Given the description of an element on the screen output the (x, y) to click on. 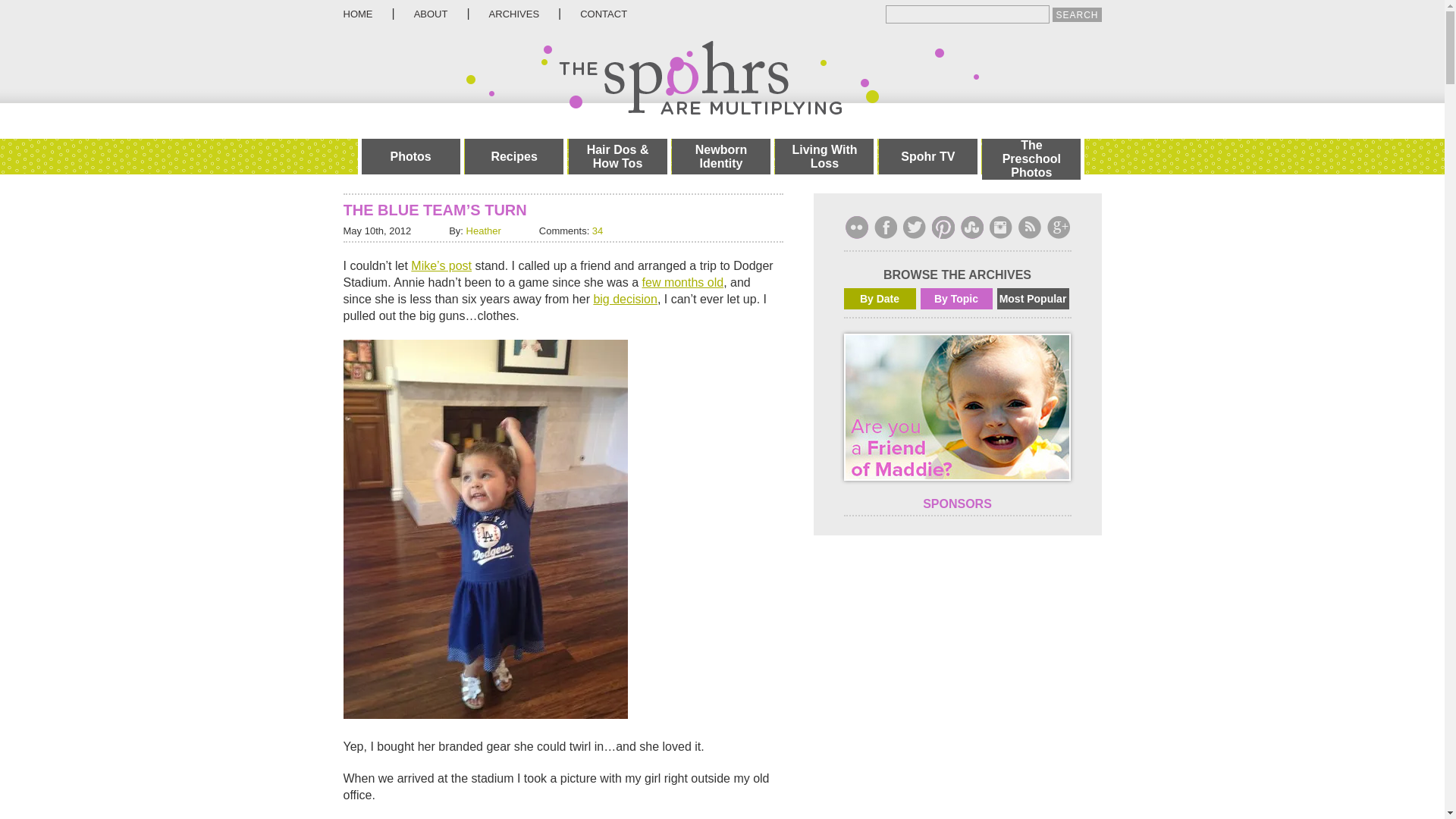
Search (1076, 14)
big decision (625, 298)
Baseball Town! by The Spohrs Are Multiplying..., on Flickr (484, 714)
Search (1076, 14)
Living With Loss (823, 156)
Photos (410, 156)
Newborn Identity (720, 156)
2012-05-10T02:39:26-07:00 (376, 230)
few months old (682, 282)
ARCHIVES (513, 13)
ABOUT (430, 13)
Spohr TV (927, 156)
Heather (482, 230)
Search (1076, 14)
34 (597, 230)
